Given the description of an element on the screen output the (x, y) to click on. 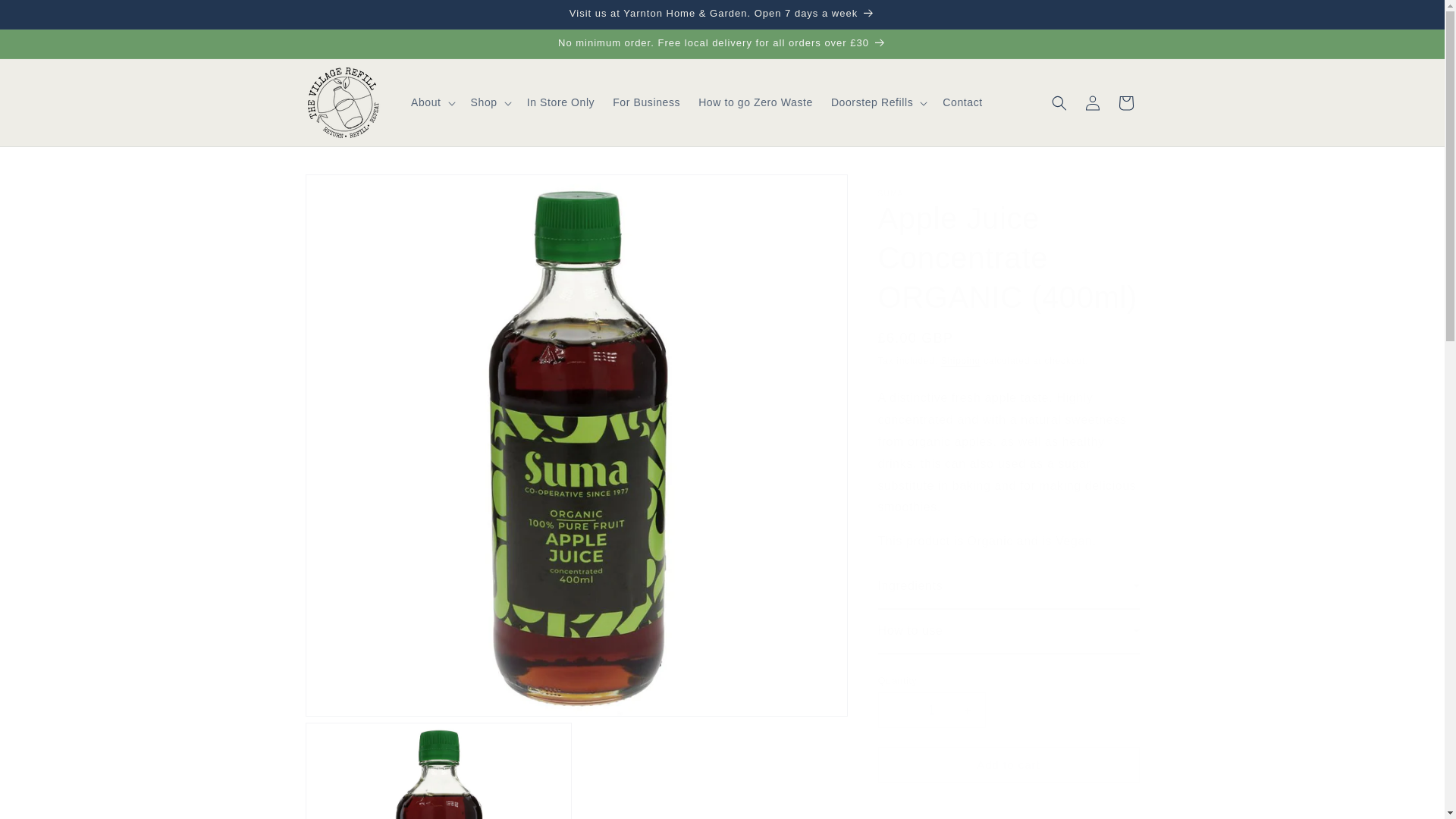
Open media 2 in modal (438, 770)
Skip to content (45, 17)
1 (931, 710)
